Given the description of an element on the screen output the (x, y) to click on. 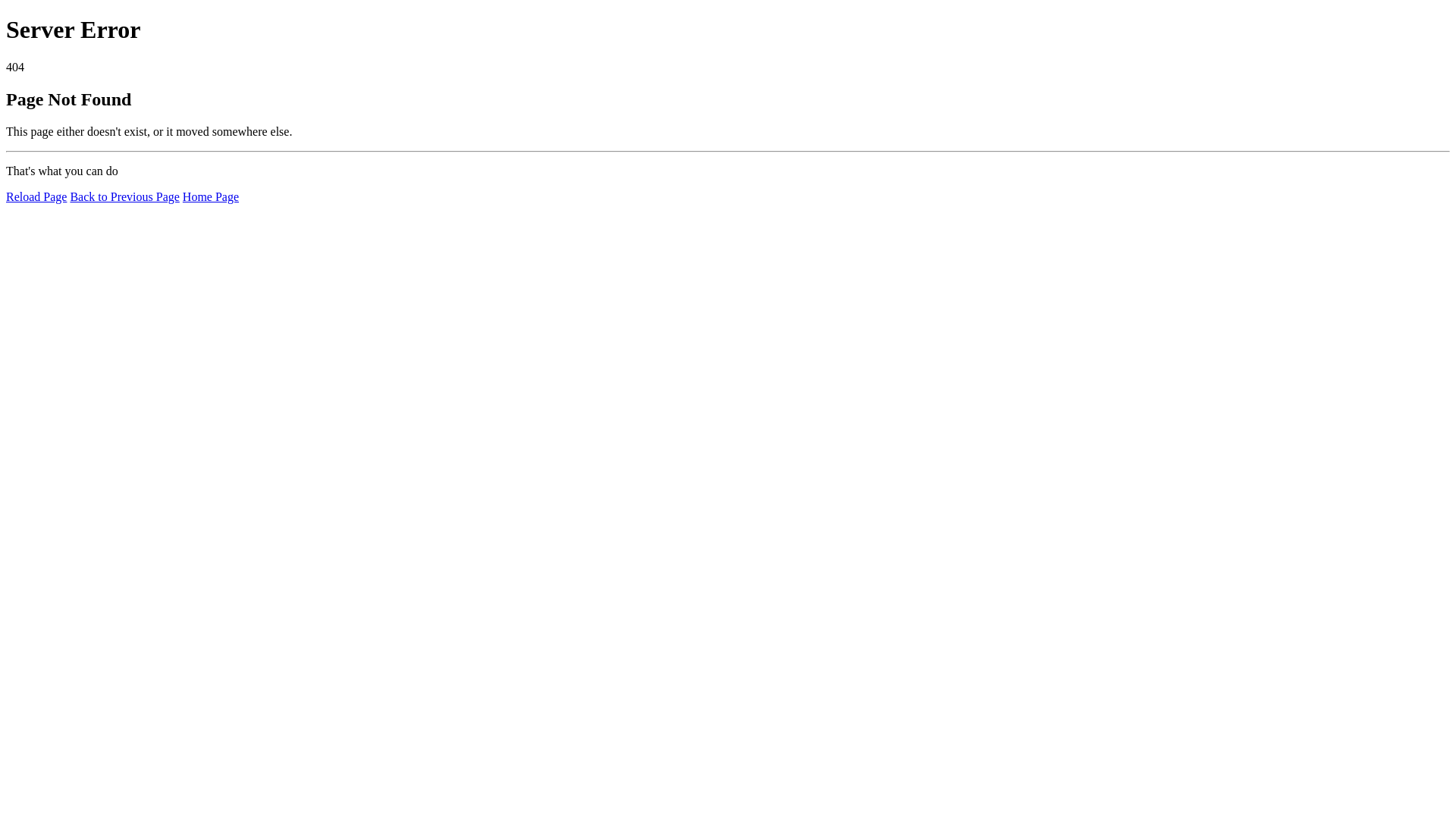
Reload Page Element type: text (36, 196)
Home Page Element type: text (210, 196)
Back to Previous Page Element type: text (123, 196)
